Given the description of an element on the screen output the (x, y) to click on. 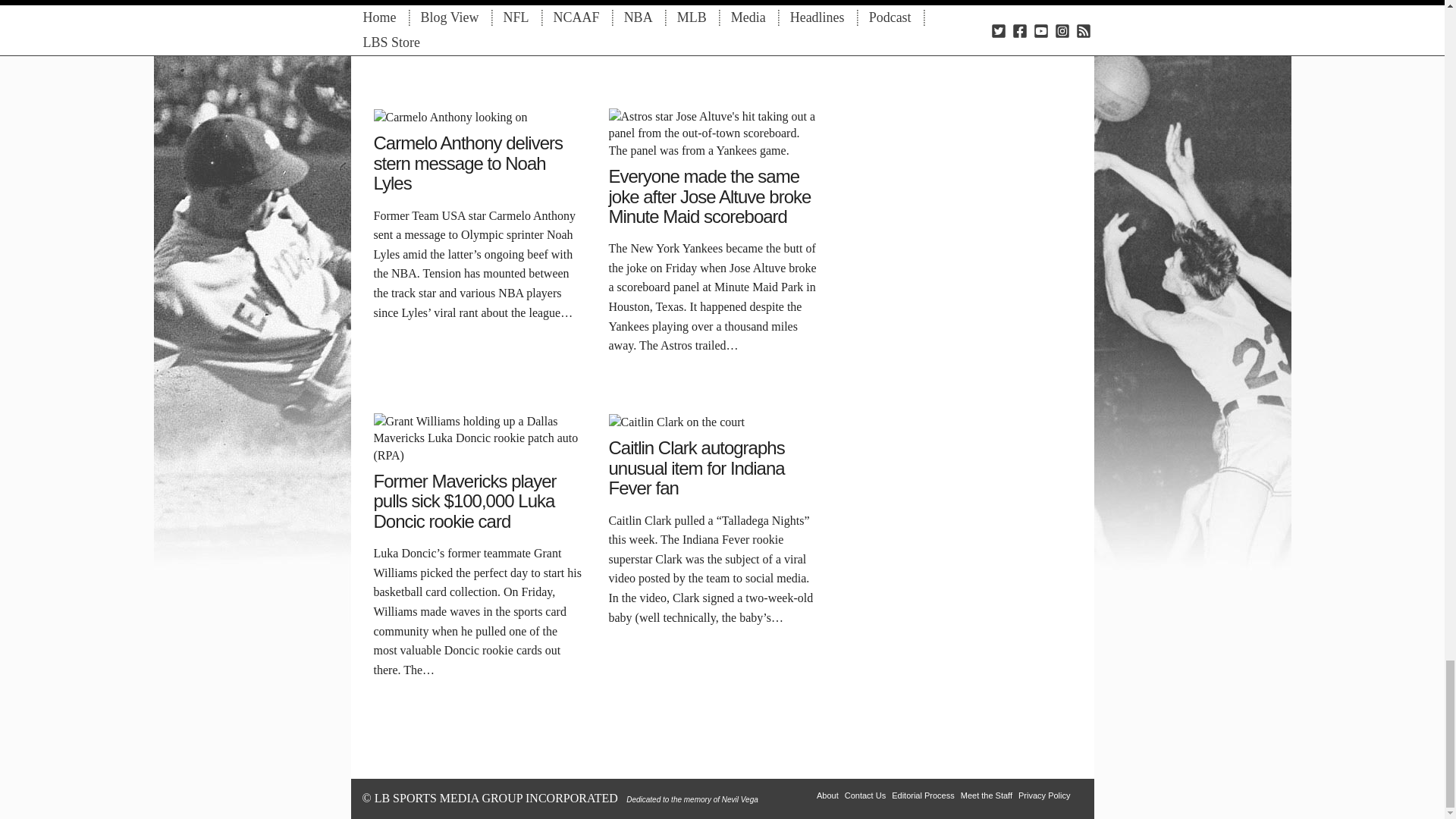
Caitlin Clark autographs unusual item for Indiana Fever fan (676, 420)
Carmelo Anthony delivers stern message to Noah Lyles (449, 115)
